Given the description of an element on the screen output the (x, y) to click on. 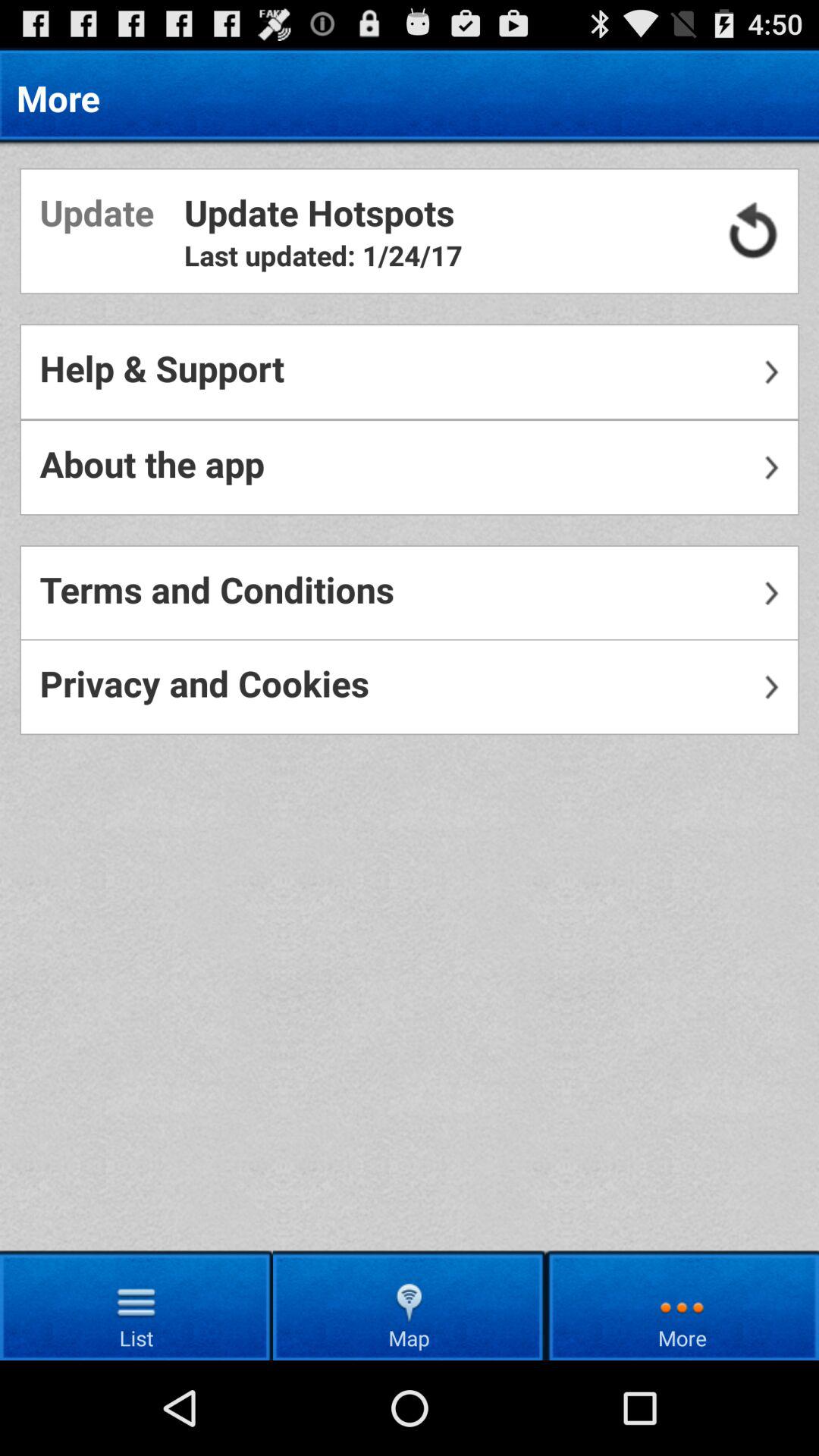
scroll until about the app icon (409, 467)
